Given the description of an element on the screen output the (x, y) to click on. 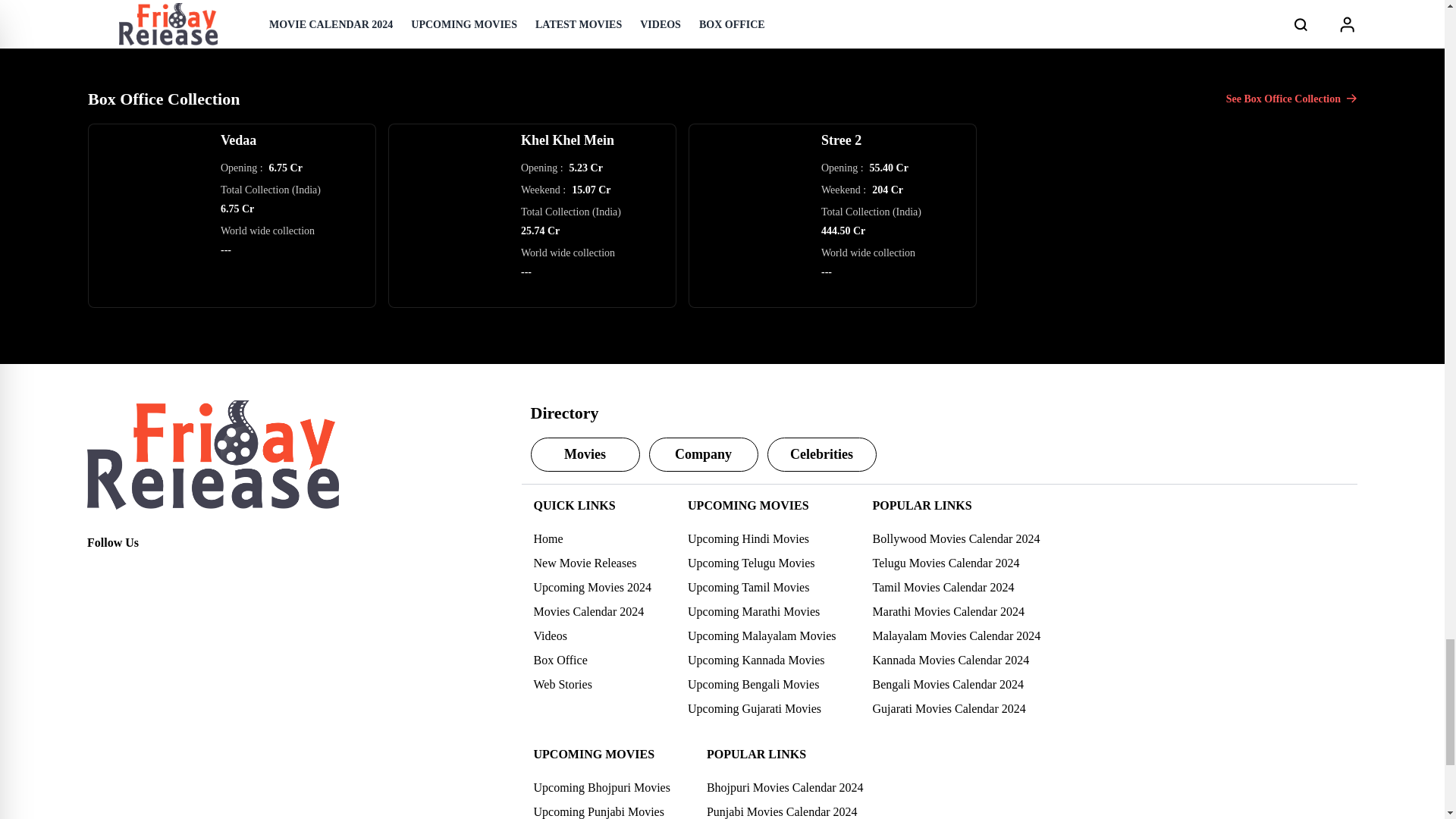
Youtube Page (199, 569)
Instagram Page (165, 569)
Facebook Page (99, 569)
Twitter Page (132, 569)
